Given the description of an element on the screen output the (x, y) to click on. 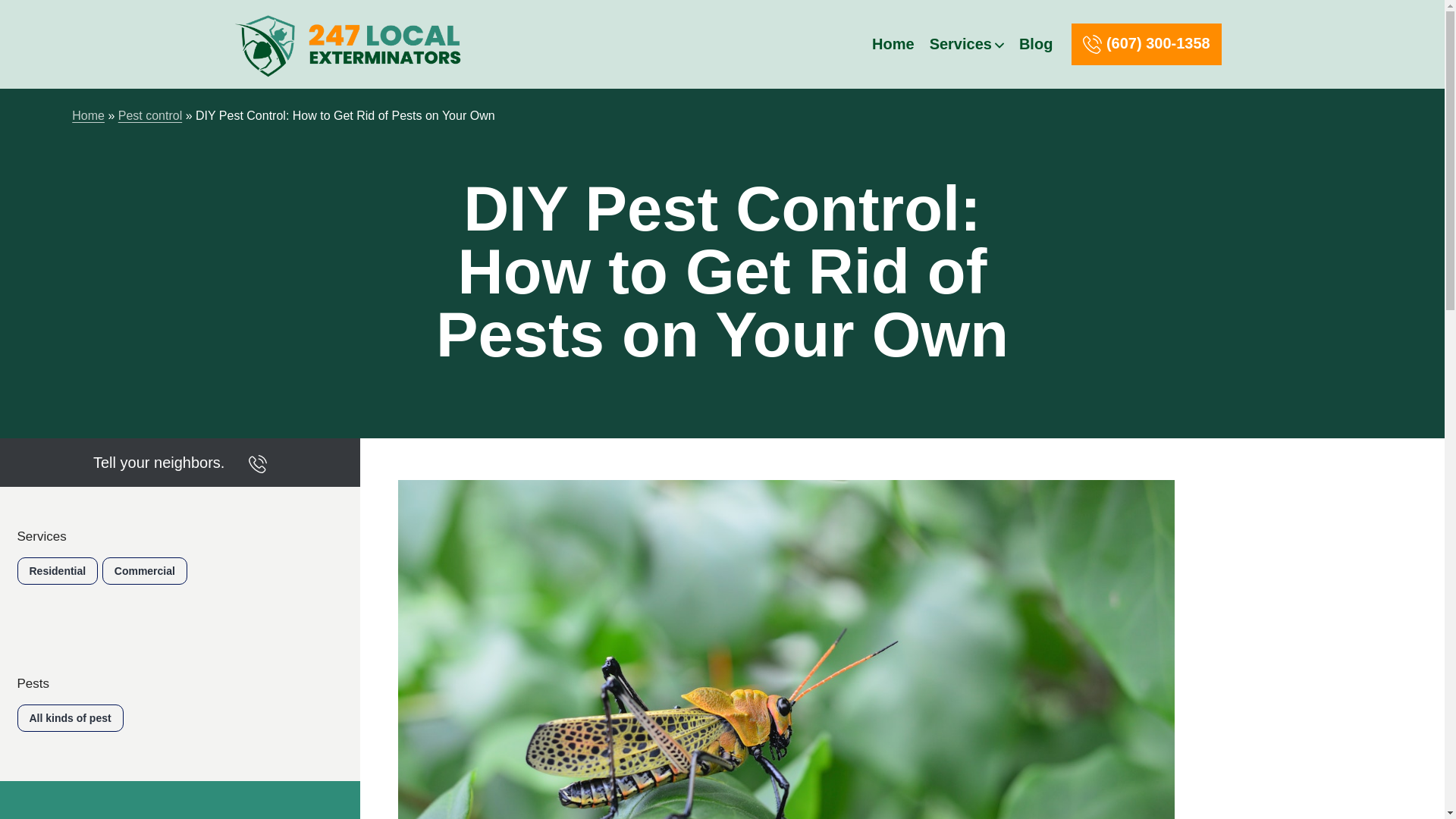
Home (87, 115)
Blog (1035, 43)
Pest control (149, 115)
All kinds of pest (69, 718)
Residential (56, 570)
Commercial (144, 570)
Home (892, 43)
Services (962, 43)
